Given the description of an element on the screen output the (x, y) to click on. 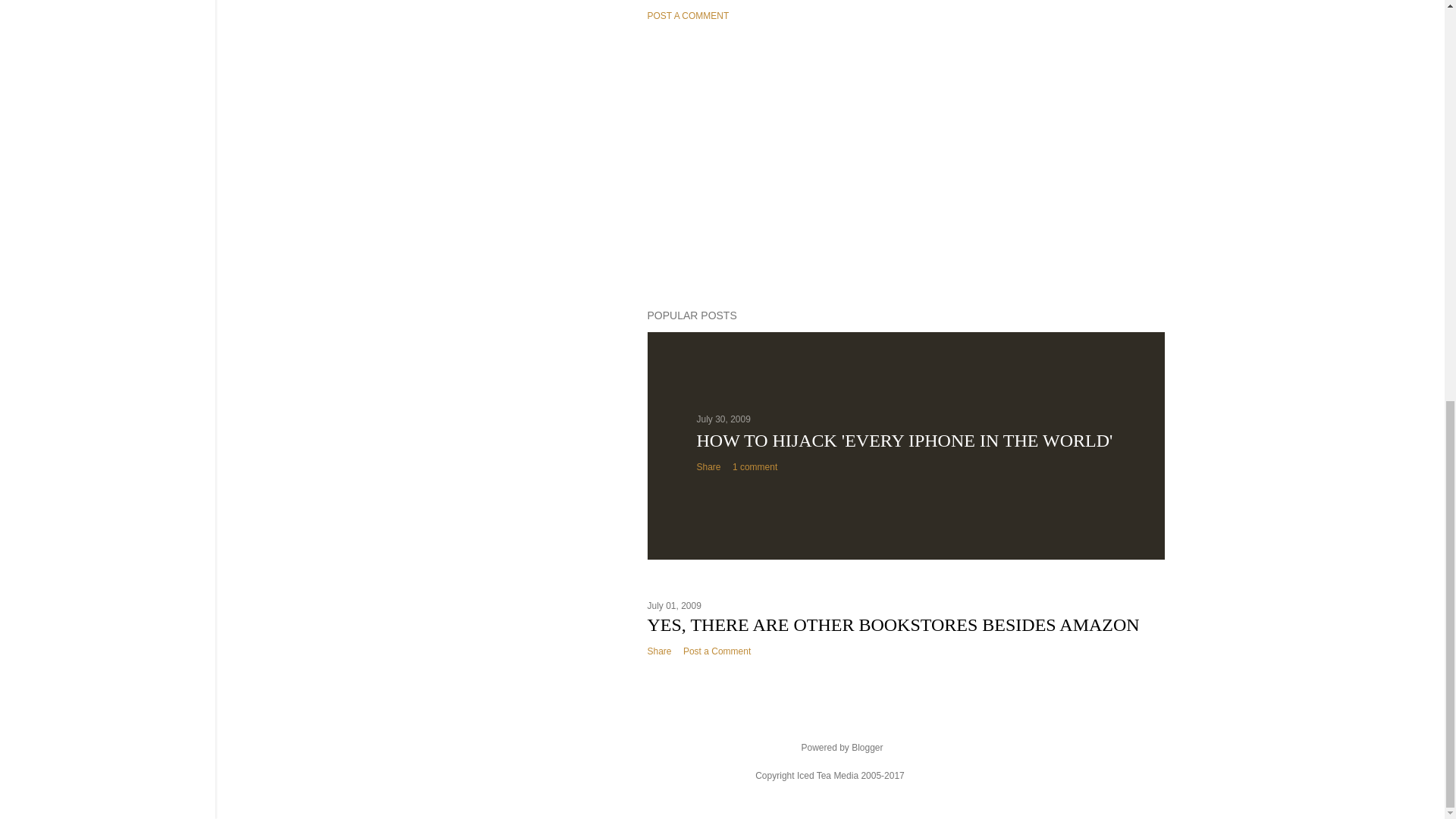
Share (707, 466)
July 01, 2009 (674, 605)
July 30, 2009 (722, 419)
Post a Comment (716, 651)
Share (659, 651)
YES, THERE ARE OTHER BOOKSTORES BESIDES AMAZON (893, 624)
HOW TO HIJACK 'EVERY IPHONE IN THE WORLD' (903, 440)
1 comment (754, 466)
POST A COMMENT (688, 15)
